Given the description of an element on the screen output the (x, y) to click on. 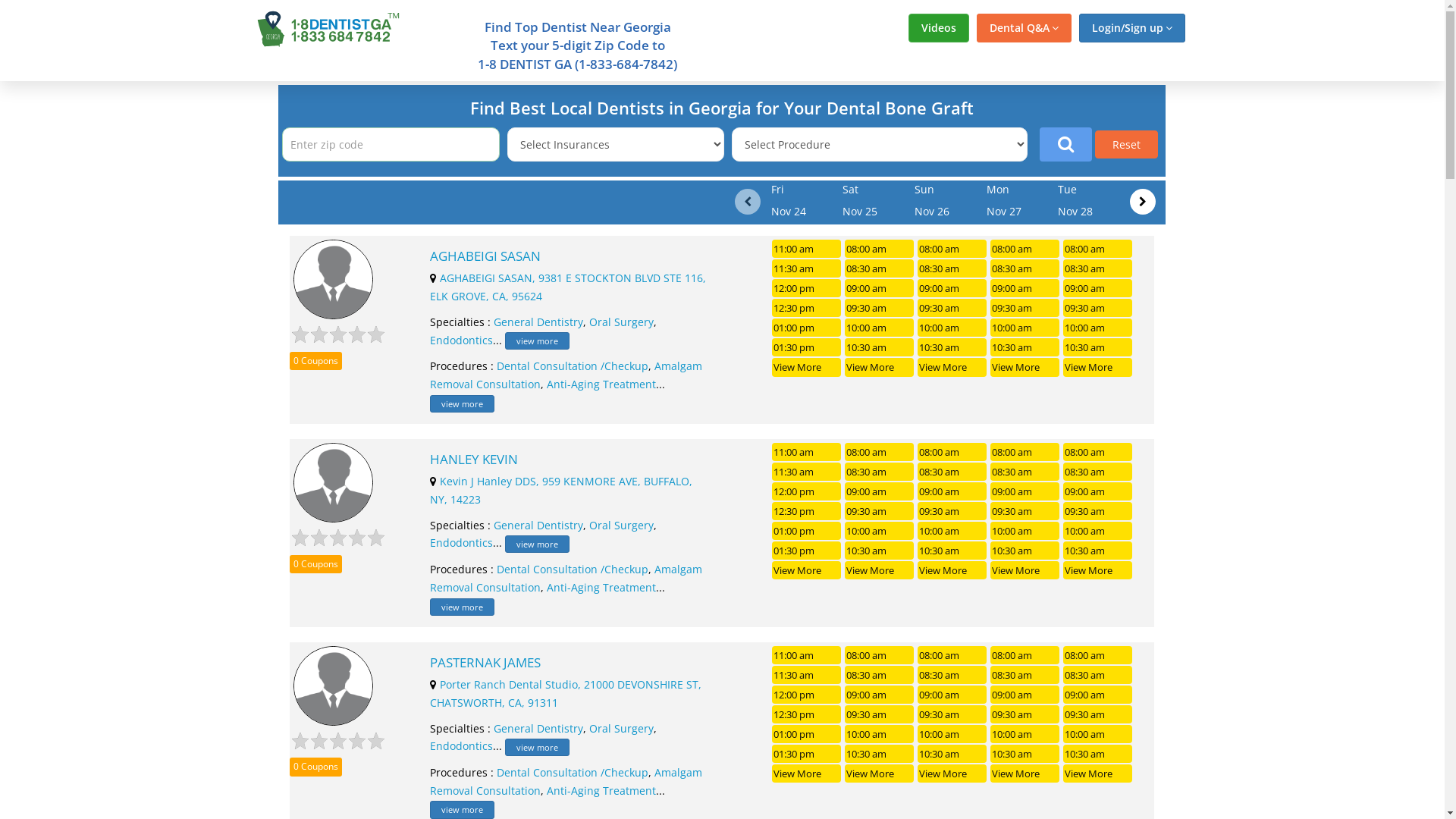
09:30 am Element type: text (878, 307)
Anti-Aging Treatment Element type: text (600, 790)
10:30 am Element type: text (1097, 347)
10:30 am Element type: text (951, 753)
Advertisement Element type: hover (1313, 308)
Endodontics Element type: text (460, 339)
View More Element type: text (805, 773)
View More Element type: text (1097, 773)
View More Element type: text (1097, 366)
10:00 am Element type: text (878, 733)
Reset Element type: text (1126, 144)
0 Coupons Element type: text (315, 360)
08:30 am Element type: text (951, 268)
10:30 am Element type: text (1024, 753)
09:30 am Element type: text (951, 307)
09:00 am Element type: text (951, 491)
10:30 am Element type: text (951, 550)
08:30 am Element type: text (878, 471)
08:30 am Element type: text (1097, 471)
10:00 am Element type: text (1024, 530)
09:00 am Element type: text (878, 288)
10:30 am Element type: text (1097, 753)
08:00 am Element type: text (951, 451)
09:30 am Element type: text (1024, 714)
09:00 am Element type: text (1024, 694)
09:30 am Element type: text (1097, 307)
view more Element type: text (537, 340)
09:30 am Element type: text (878, 511)
10:00 am Element type: text (951, 530)
08:30 am Element type: text (951, 471)
View More Element type: text (1024, 366)
08:30 am Element type: text (1097, 268)
08:00 am Element type: text (878, 655)
10:30 am Element type: text (878, 550)
View More Element type: text (805, 366)
11:30 am Element type: text (805, 471)
Endodontics Element type: text (460, 745)
12:00 pm Element type: text (805, 491)
10:00 am Element type: text (1097, 327)
View More Element type: text (805, 570)
09:00 am Element type: text (1097, 288)
Anti-Aging Treatment Element type: text (600, 587)
General Dentistry Element type: text (538, 728)
12:30 pm Element type: text (805, 307)
12:00 pm Element type: text (805, 694)
view more Element type: text (461, 809)
view more Element type: text (537, 543)
Oral Surgery Element type: text (621, 728)
01:00 pm Element type: text (805, 530)
10:00 am Element type: text (1097, 530)
08:00 am Element type: text (1024, 655)
08:00 am Element type: text (1097, 248)
09:30 am Element type: text (1097, 511)
09:30 am Element type: text (1024, 307)
10:00 am Element type: text (951, 733)
12:00 pm Element type: text (805, 288)
08:30 am Element type: text (1024, 674)
12:30 pm Element type: text (805, 714)
Login/Sign up Element type: text (1131, 27)
10:00 am Element type: text (1024, 327)
AGHABEIGI SASAN Element type: text (567, 256)
View More Element type: text (951, 366)
General Dentistry Element type: text (538, 321)
Dental Q&A Element type: text (1023, 27)
11:30 am Element type: text (805, 268)
View More Element type: text (951, 570)
Kevin J Hanley DDS, 959 KENMORE AVE, BUFFALO, NY, 14223 Element type: text (560, 489)
View More Element type: text (1024, 570)
10:00 am Element type: text (951, 327)
09:00 am Element type: text (878, 491)
09:30 am Element type: text (951, 511)
HANLEY KEVIN Element type: text (567, 459)
Videos Element type: text (938, 27)
10:30 am Element type: text (951, 347)
08:30 am Element type: text (1024, 471)
view more Element type: text (537, 747)
09:30 am Element type: text (1024, 511)
Oral Surgery Element type: text (621, 524)
01:00 pm Element type: text (805, 327)
Anti-Aging Treatment Element type: text (600, 383)
10:00 am Element type: text (878, 327)
08:00 am Element type: text (878, 248)
11:00 am Element type: text (805, 451)
Endodontics Element type: text (460, 542)
09:00 am Element type: text (951, 694)
Dental Consultation /Checkup Element type: text (572, 365)
09:30 am Element type: text (1097, 714)
view more Element type: text (461, 606)
View More Element type: text (1097, 570)
11:30 am Element type: text (805, 674)
01:00 pm Element type: text (805, 733)
10:30 am Element type: text (1024, 347)
08:30 am Element type: text (951, 674)
09:00 am Element type: text (1097, 491)
View More Element type: text (1024, 773)
08:30 am Element type: text (878, 268)
View More Element type: text (878, 366)
11:00 am Element type: text (805, 655)
Amalgam Removal Consultation Element type: text (565, 577)
10:00 am Element type: text (1024, 733)
view more Element type: text (461, 403)
11:00 am Element type: text (805, 248)
Oral Surgery Element type: text (621, 321)
Dental Consultation /Checkup Element type: text (572, 568)
09:30 am Element type: text (951, 714)
08:00 am Element type: text (1097, 451)
08:00 am Element type: text (1097, 655)
08:30 am Element type: text (878, 674)
09:00 am Element type: text (1024, 288)
10:00 am Element type: text (1097, 733)
12:30 pm Element type: text (805, 511)
PASTERNAK JAMES Element type: text (567, 662)
09:00 am Element type: text (1097, 694)
View More Element type: text (951, 773)
0 Coupons Element type: text (315, 564)
10:00 am Element type: text (878, 530)
0 Coupons Element type: text (315, 766)
08:00 am Element type: text (878, 451)
09:00 am Element type: text (878, 694)
View More Element type: text (878, 773)
09:00 am Element type: text (1024, 491)
08:30 am Element type: text (1024, 268)
10:30 am Element type: text (878, 753)
08:00 am Element type: text (951, 248)
09:00 am Element type: text (951, 288)
08:00 am Element type: text (951, 655)
Amalgam Removal Consultation Element type: text (565, 781)
09:30 am Element type: text (878, 714)
01:30 pm Element type: text (805, 347)
View More Element type: text (878, 570)
10:30 am Element type: text (1024, 550)
General Dentistry Element type: text (538, 524)
08:00 am Element type: text (1024, 248)
08:00 am Element type: text (1024, 451)
10:30 am Element type: text (878, 347)
10:30 am Element type: text (1097, 550)
Dental Consultation /Checkup Element type: text (572, 772)
01:30 pm Element type: text (805, 550)
01:30 pm Element type: text (805, 753)
Amalgam Removal Consultation Element type: text (565, 374)
Advertisement Element type: hover (129, 308)
08:30 am Element type: text (1097, 674)
